Given the description of an element on the screen output the (x, y) to click on. 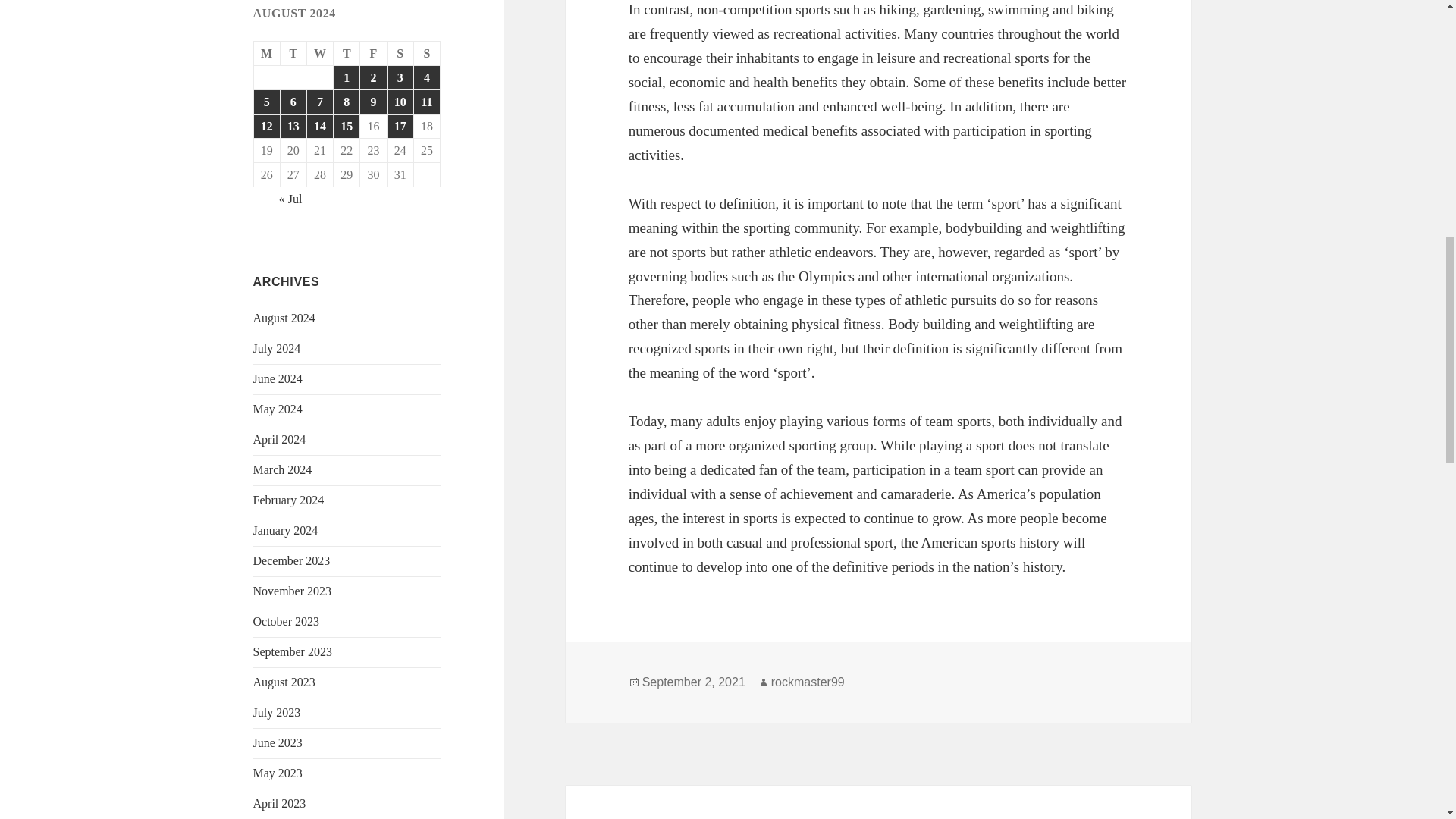
9 (372, 101)
17 (400, 126)
April 2024 (279, 439)
4 (426, 77)
Wednesday (320, 53)
June 2024 (277, 378)
8 (346, 101)
Saturday (400, 53)
10 (400, 101)
14 (320, 126)
